Given the description of an element on the screen output the (x, y) to click on. 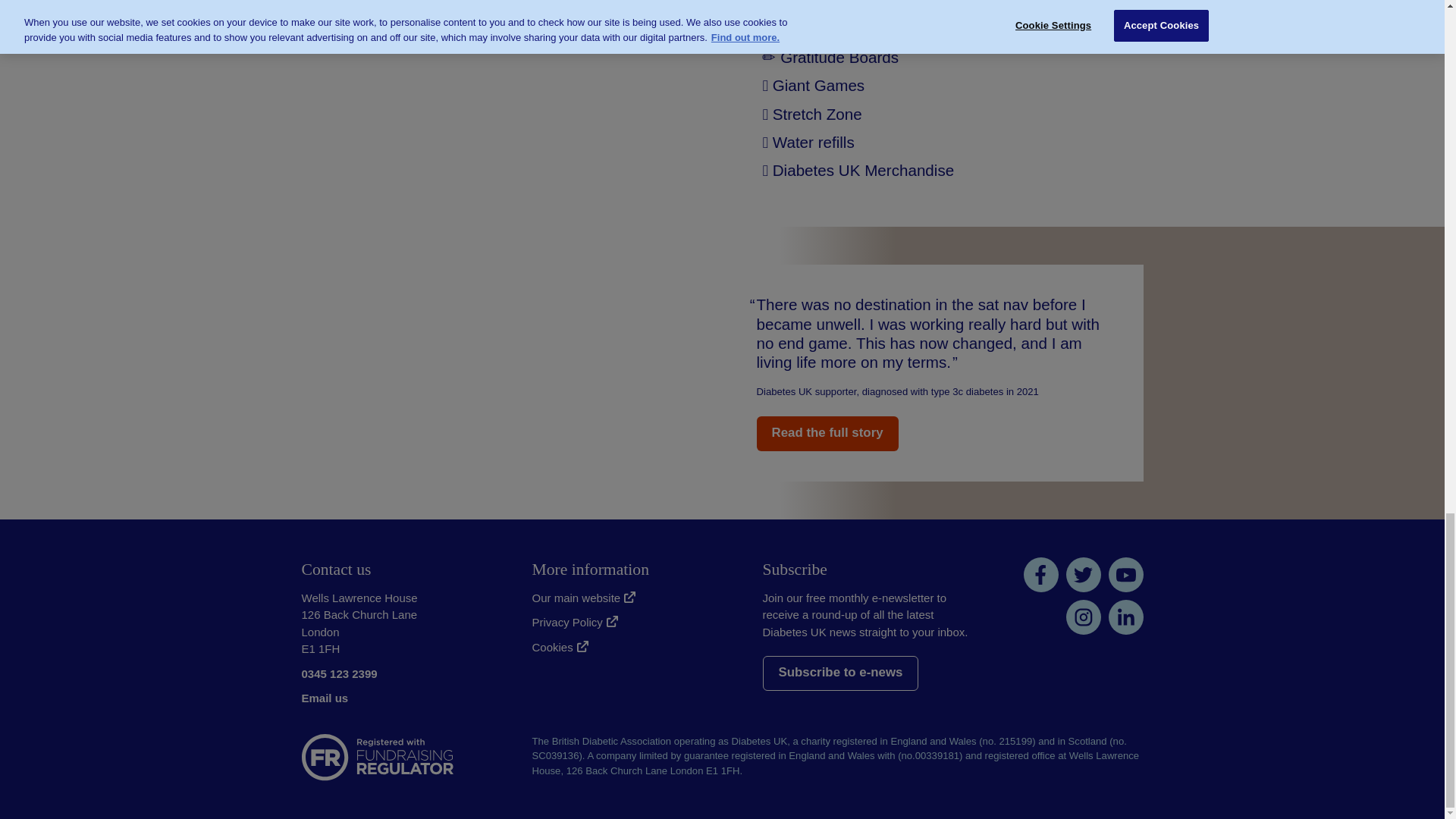
0345 123 2399 (339, 673)
Read the full story (827, 433)
Email us (325, 697)
